Given the description of an element on the screen output the (x, y) to click on. 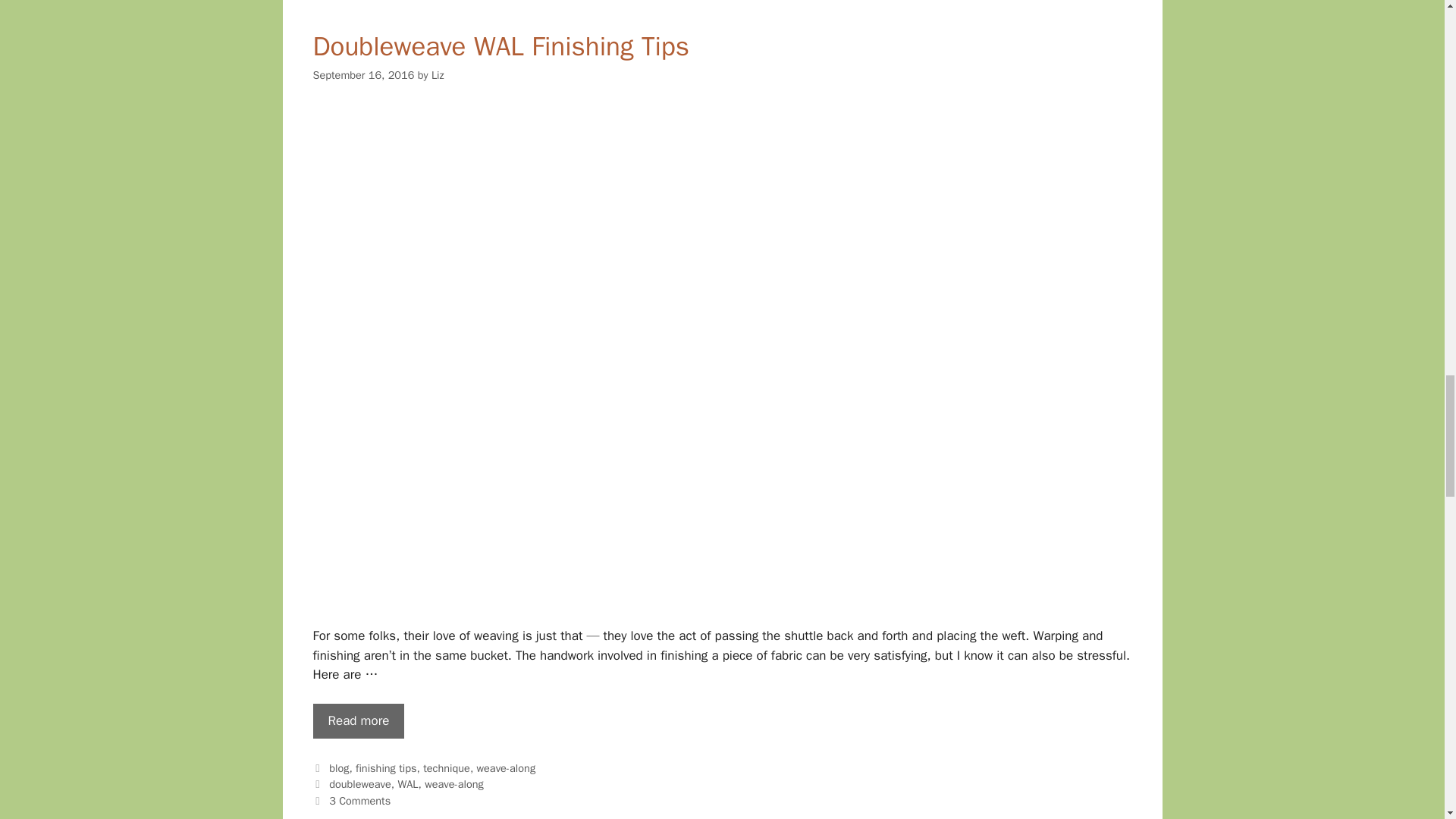
View all posts by Liz (437, 74)
Doubleweave WAL Finishing Tips (358, 720)
